Given the description of an element on the screen output the (x, y) to click on. 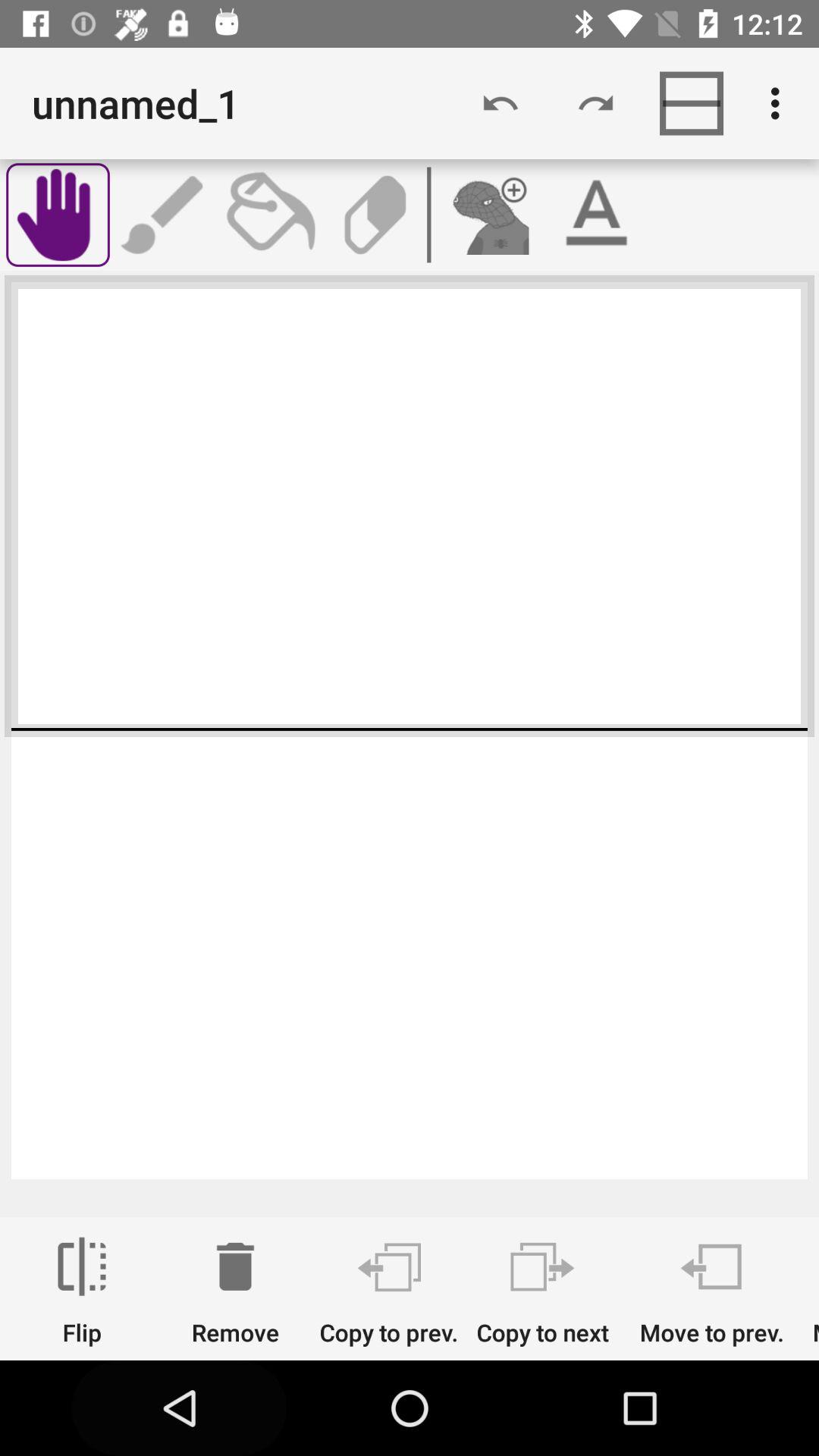
erase button (375, 214)
